Given the description of an element on the screen output the (x, y) to click on. 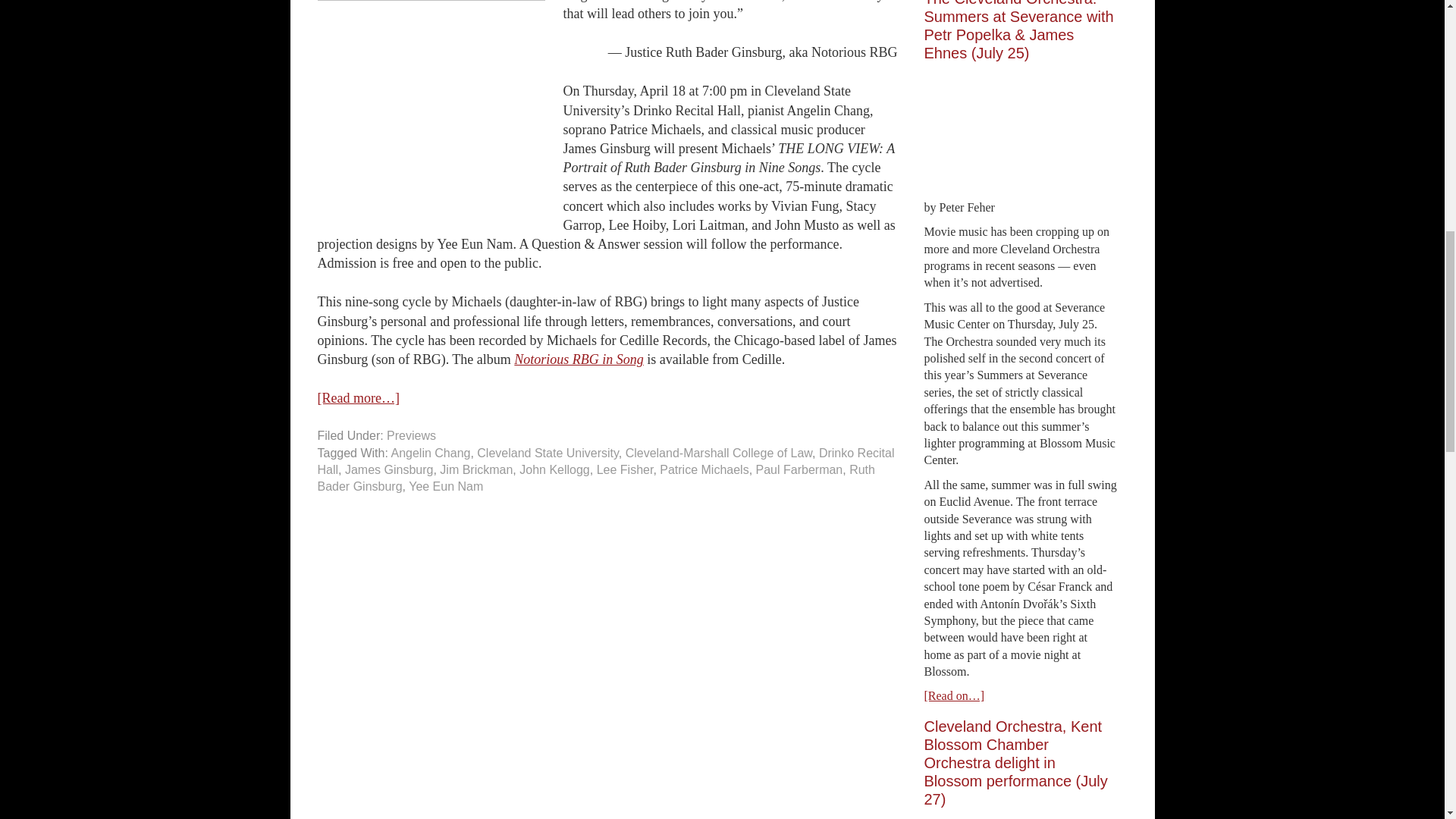
Cleveland-Marshall College of Law (719, 452)
Angelin Chang (430, 452)
James Ginsburg (389, 469)
Drinko Recital Hall (605, 460)
Lee Fisher (624, 469)
Previews (411, 435)
John Kellogg (554, 469)
Notorious RBG in Song (578, 359)
Jim Brickman (475, 469)
Cleveland State University (547, 452)
